Given the description of an element on the screen output the (x, y) to click on. 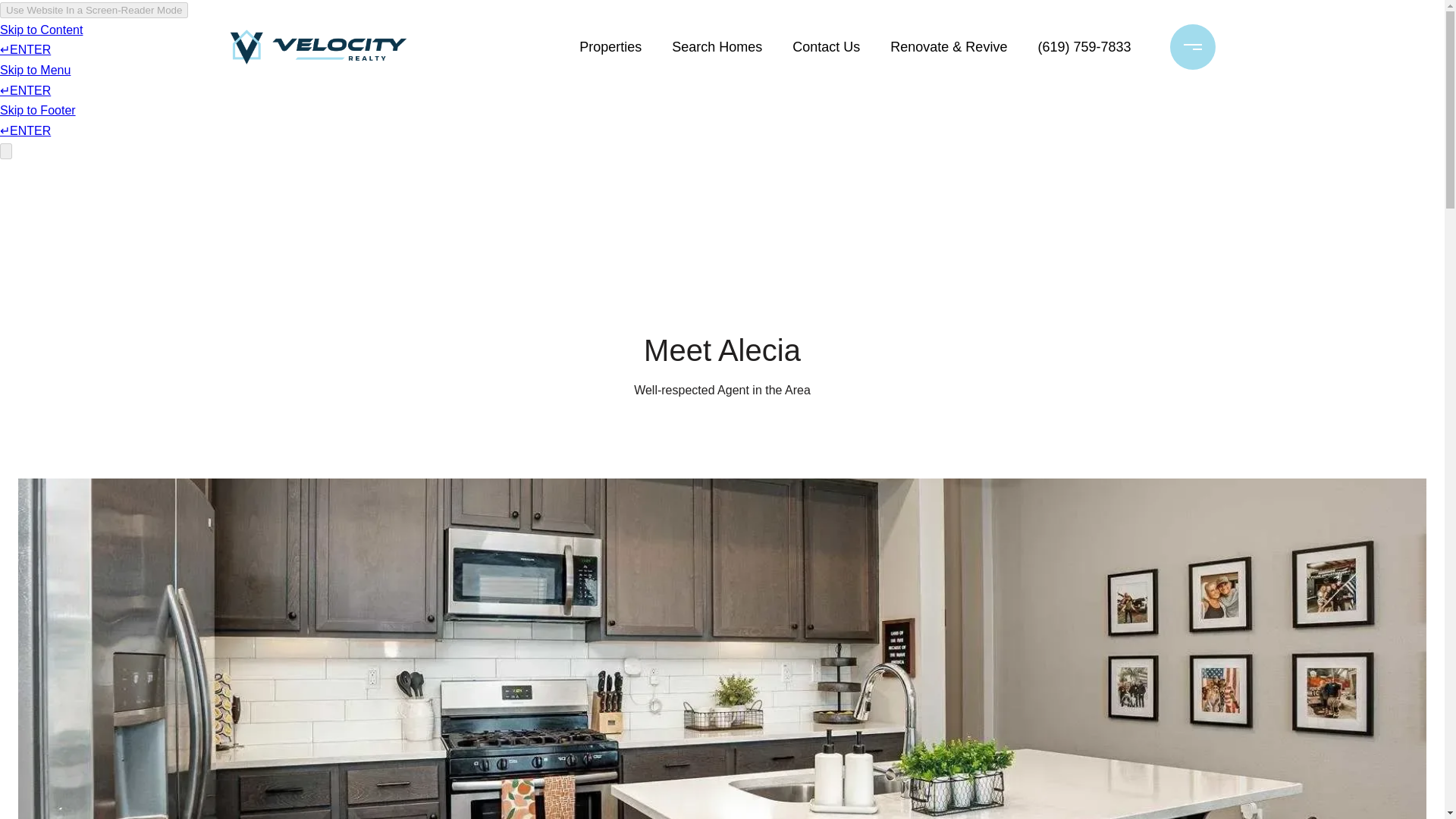
Properties (610, 46)
Search Homes (716, 46)
Contact Us (825, 46)
